Given the description of an element on the screen output the (x, y) to click on. 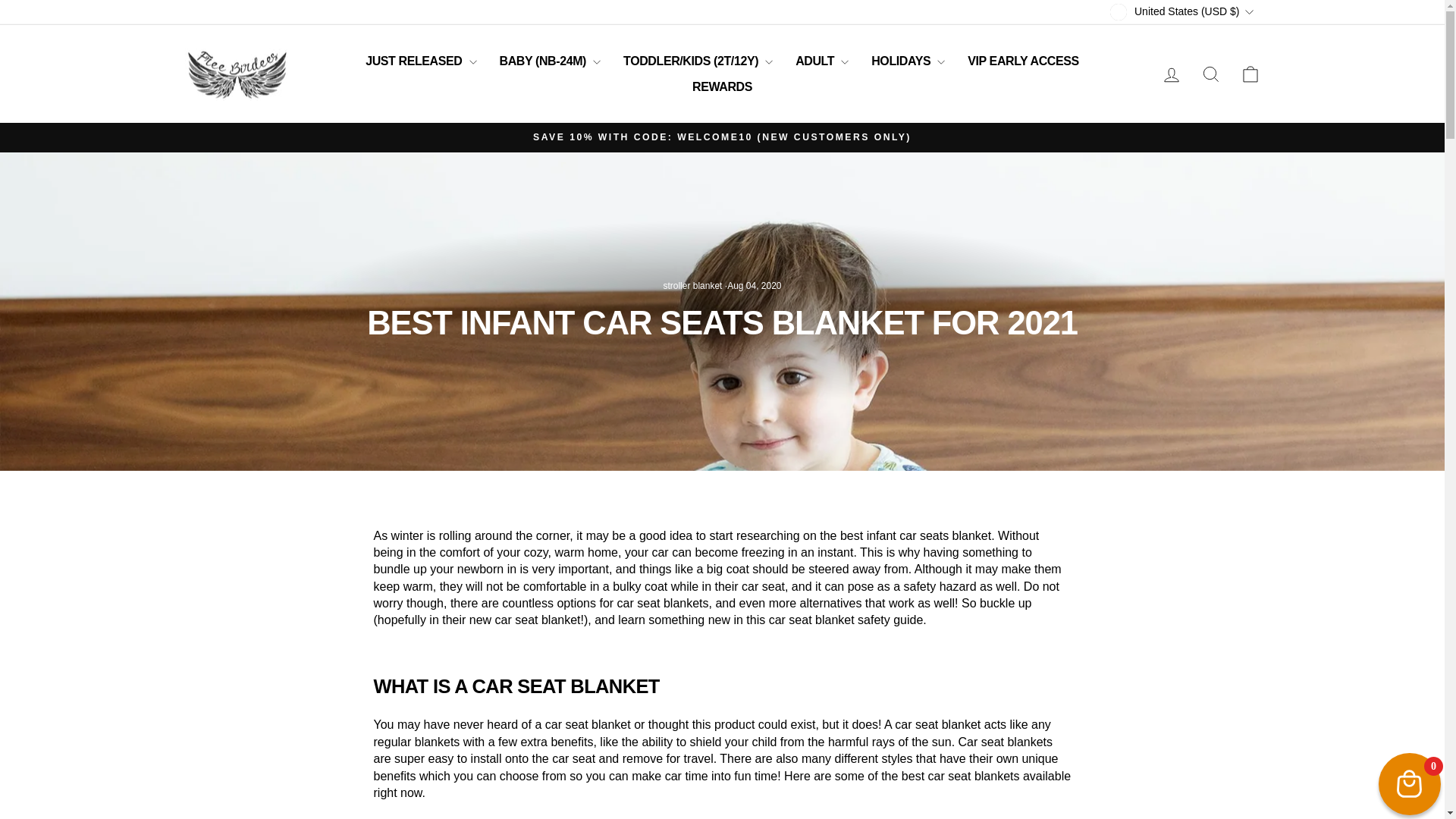
ICON-SEARCH (1210, 74)
ACCOUNT (1170, 74)
ICON-BAG-MINIMAL (1249, 74)
